Given the description of an element on the screen output the (x, y) to click on. 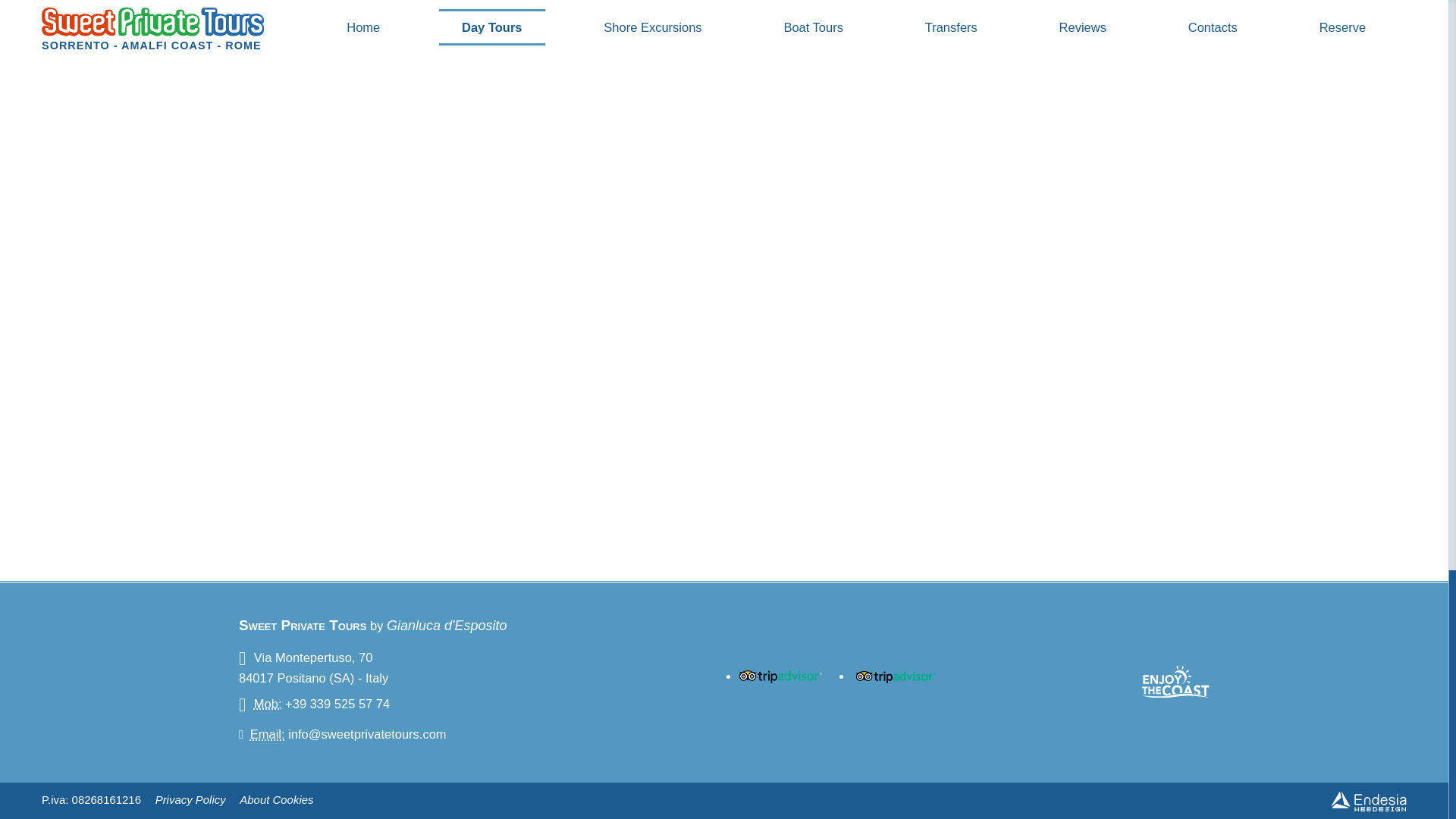
Email (267, 734)
Signaled on Enjoy the Coast (1175, 680)
Mobile (267, 703)
About Cookies (276, 800)
Sweet Private Tours (302, 625)
Privacy Policy (190, 800)
Webagency Napoli e Sorrento - Endesia (1368, 800)
